Given the description of an element on the screen output the (x, y) to click on. 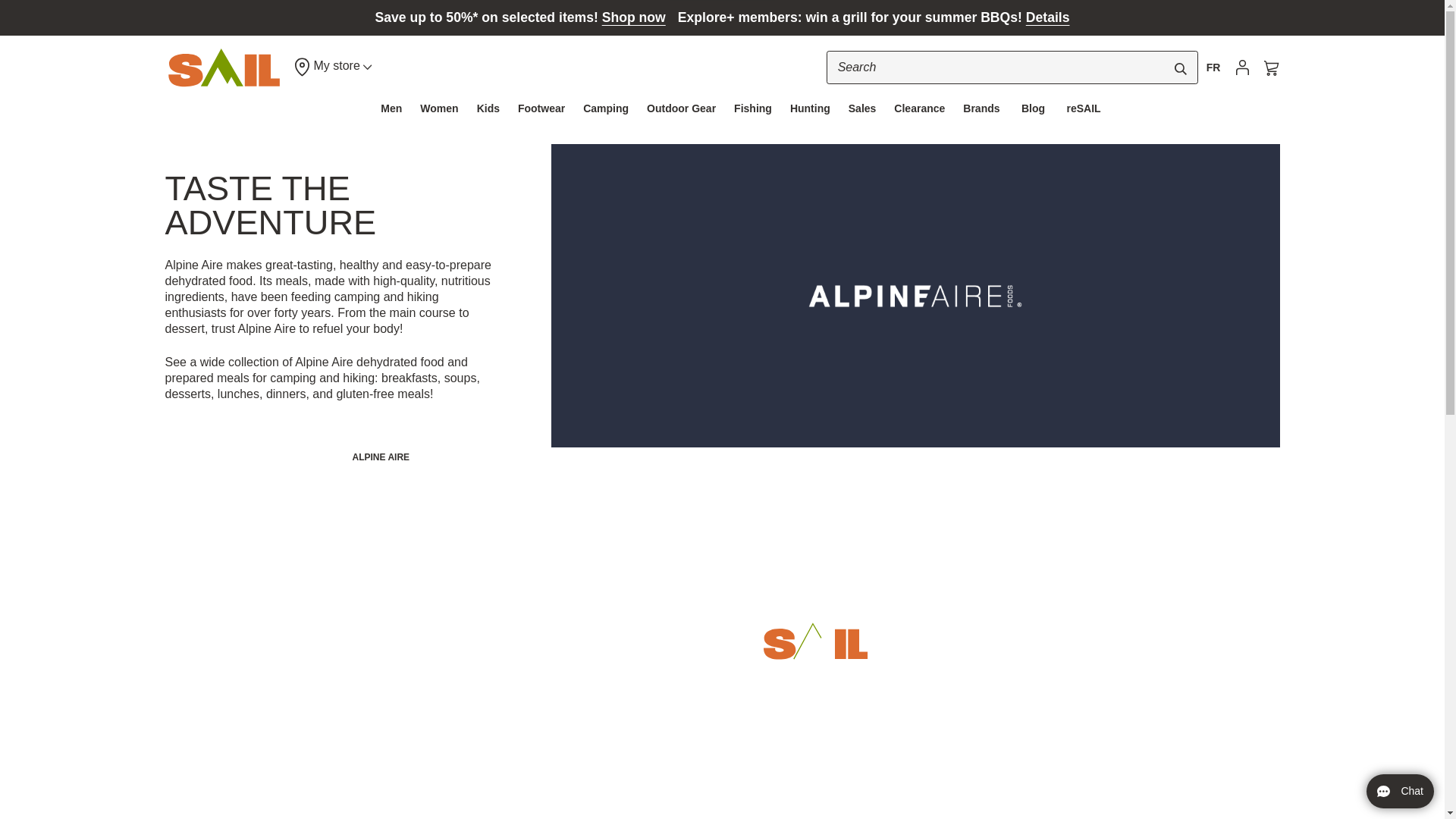
FR (1214, 67)
Shop now (633, 17)
Search (1012, 67)
Search (1180, 69)
Account (1241, 67)
Sail Plein Air (223, 66)
Details (1048, 17)
Brands (980, 108)
Men (390, 108)
My store (332, 66)
